Given the description of an element on the screen output the (x, y) to click on. 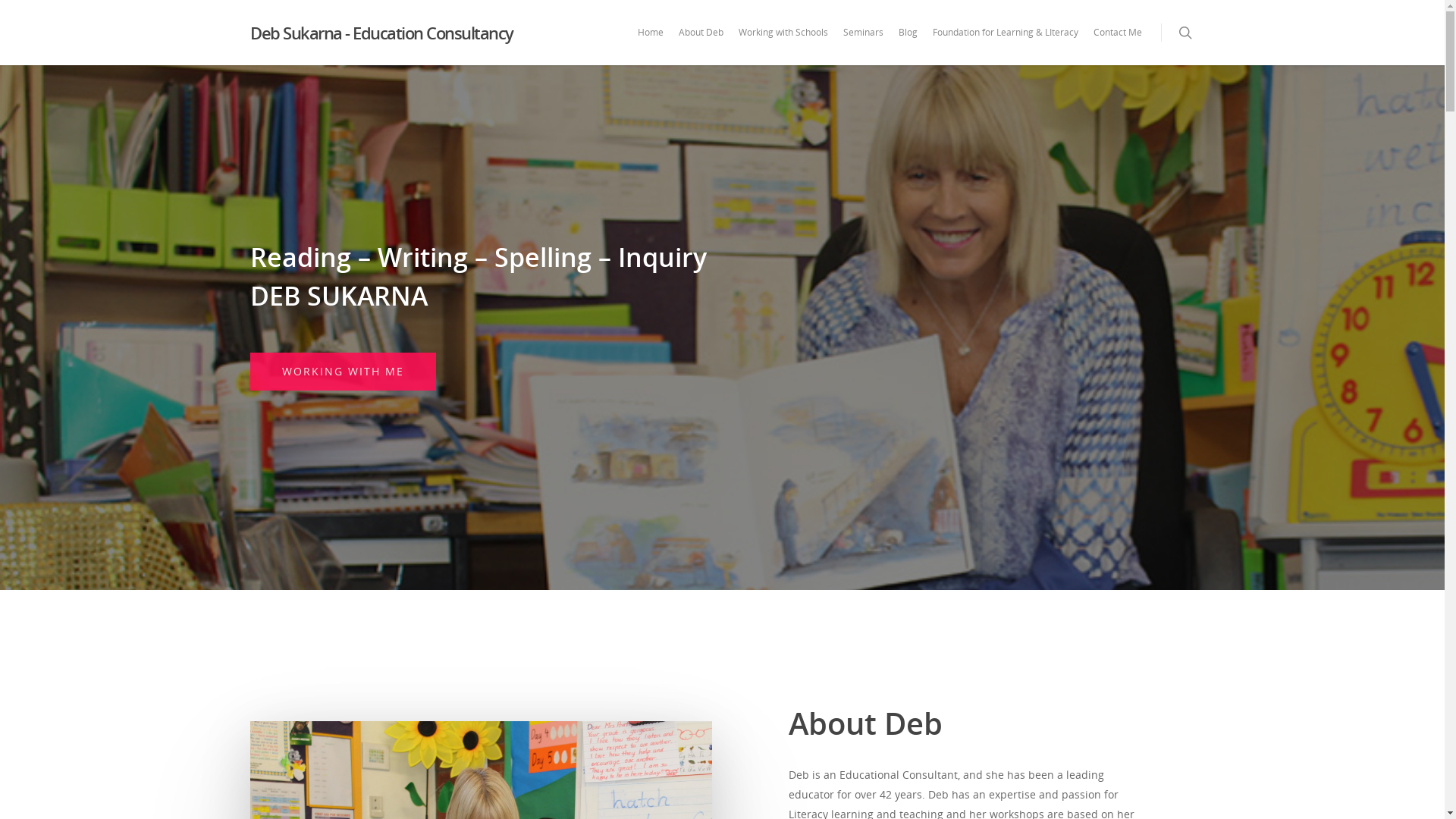
Deb Sukarna - Education Consultancy Element type: text (381, 32)
About Deb Element type: text (700, 43)
WORKING WITH ME Element type: text (343, 371)
Working with Schools Element type: text (783, 43)
Contact Me Element type: text (1117, 43)
Blog Element type: text (907, 43)
Seminars Element type: text (863, 43)
Home Element type: text (650, 43)
Foundation for Learning & LIteracy Element type: text (1005, 43)
